Given the description of an element on the screen output the (x, y) to click on. 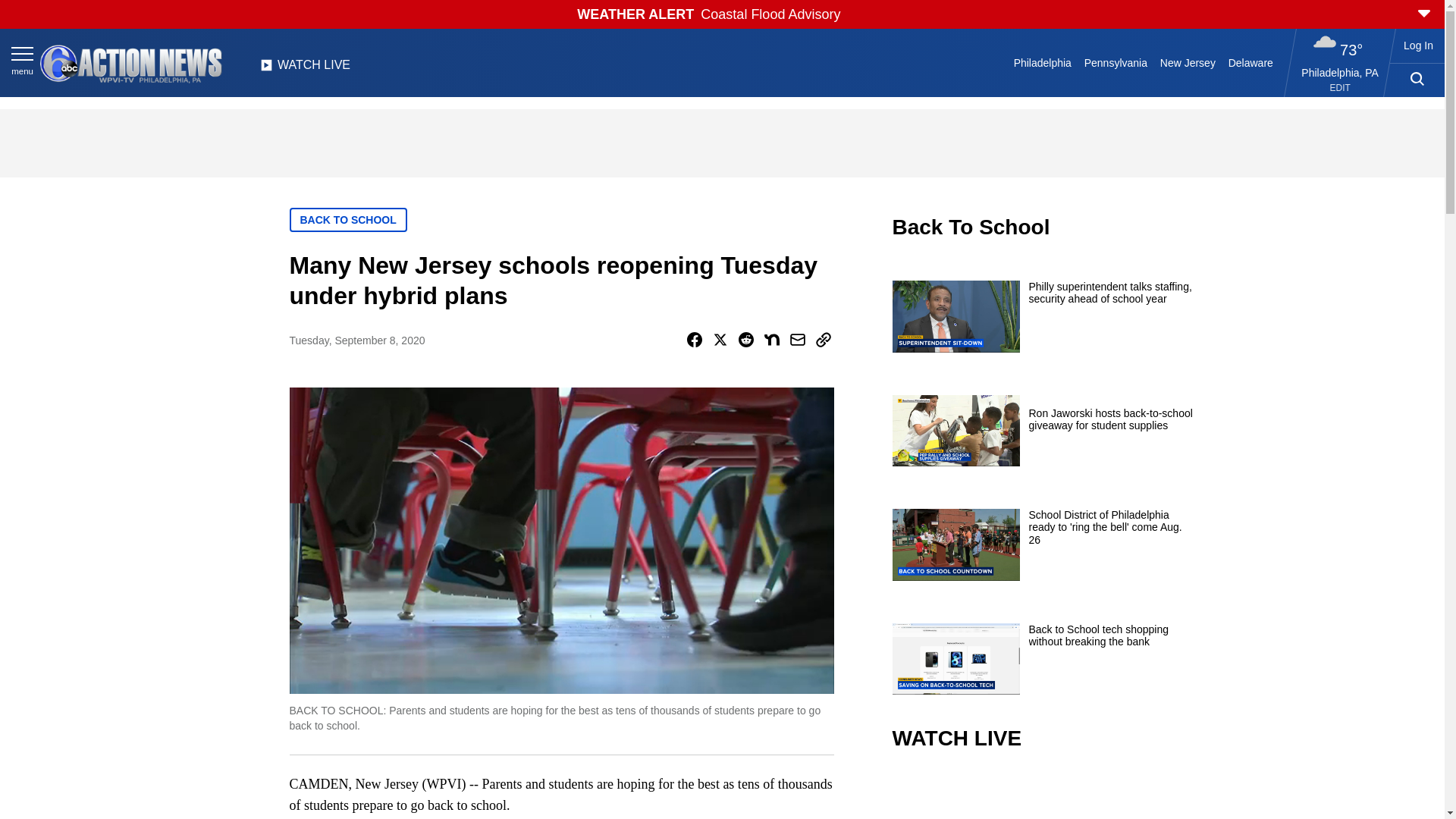
Philadelphia, PA (1339, 72)
video.title (1043, 796)
Pennsylvania (1115, 62)
Philadelphia (1042, 62)
Delaware (1250, 62)
EDIT (1340, 87)
WATCH LIVE (305, 69)
New Jersey (1187, 62)
